Given the description of an element on the screen output the (x, y) to click on. 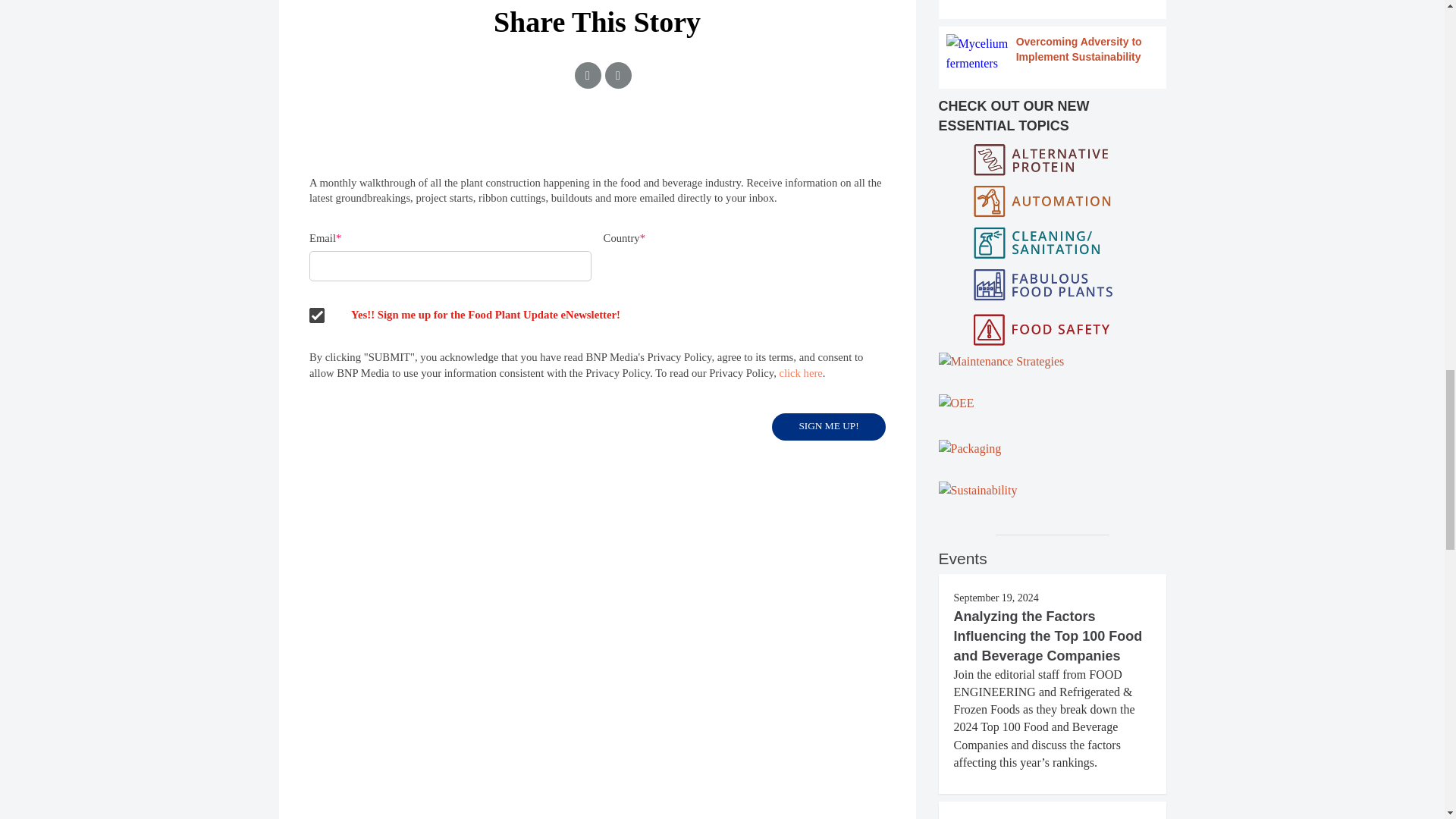
Overcoming Adversity to Implement Sustainability  (1052, 54)
